Given the description of an element on the screen output the (x, y) to click on. 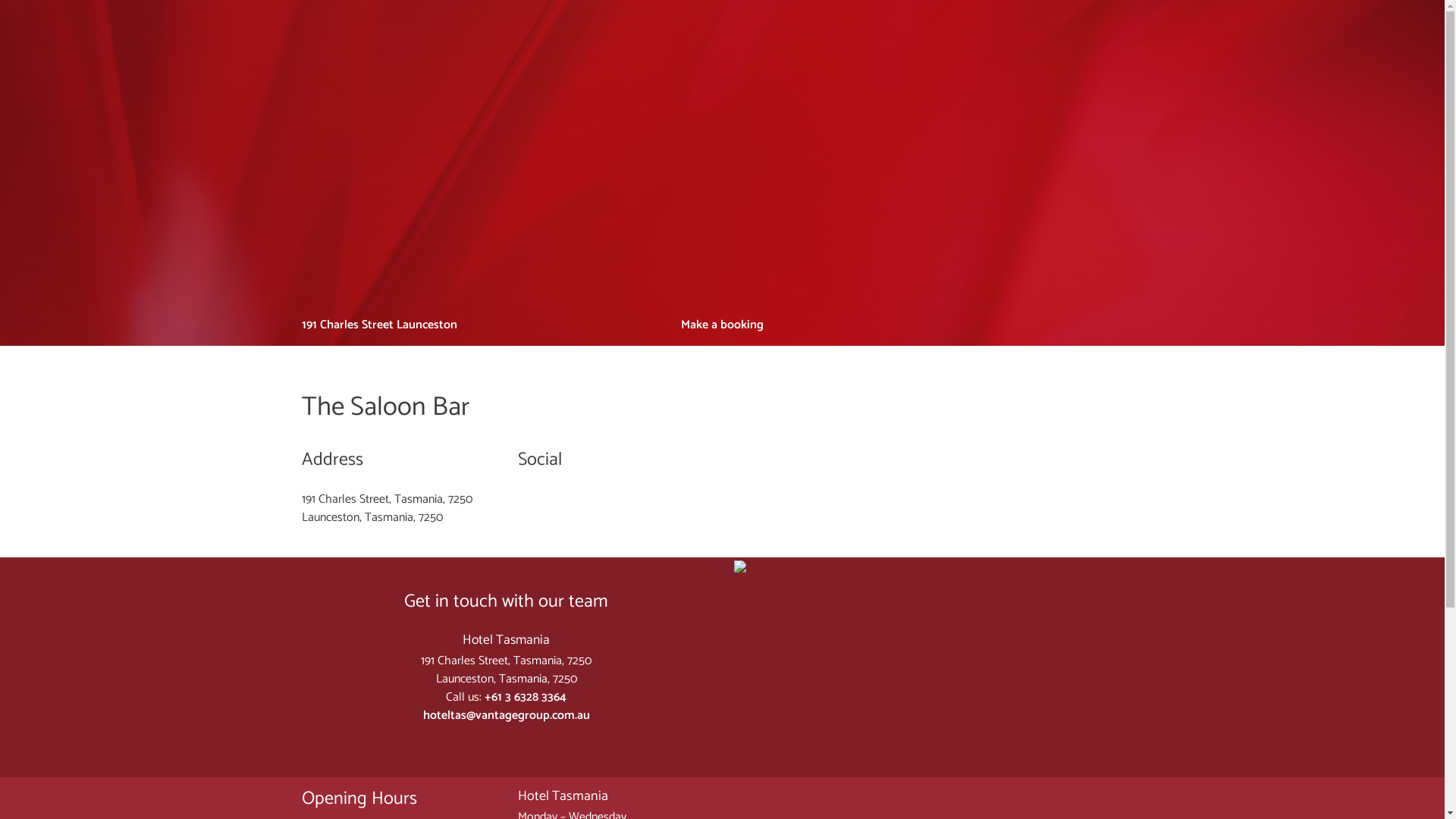
Make a booking Element type: text (721, 324)
Instagram Element type: hover (1136, 324)
Instagram Element type: hover (517, 740)
Facebook Element type: hover (494, 740)
191 Charles Street Launceston Element type: text (379, 324)
hoteltas@vantagegroup.com.au Element type: text (506, 715)
Google Maps Element type: hover (938, 566)
Facebook Element type: hover (1126, 324)
+61 3 6328 3364 Element type: text (525, 697)
